Given the description of an element on the screen output the (x, y) to click on. 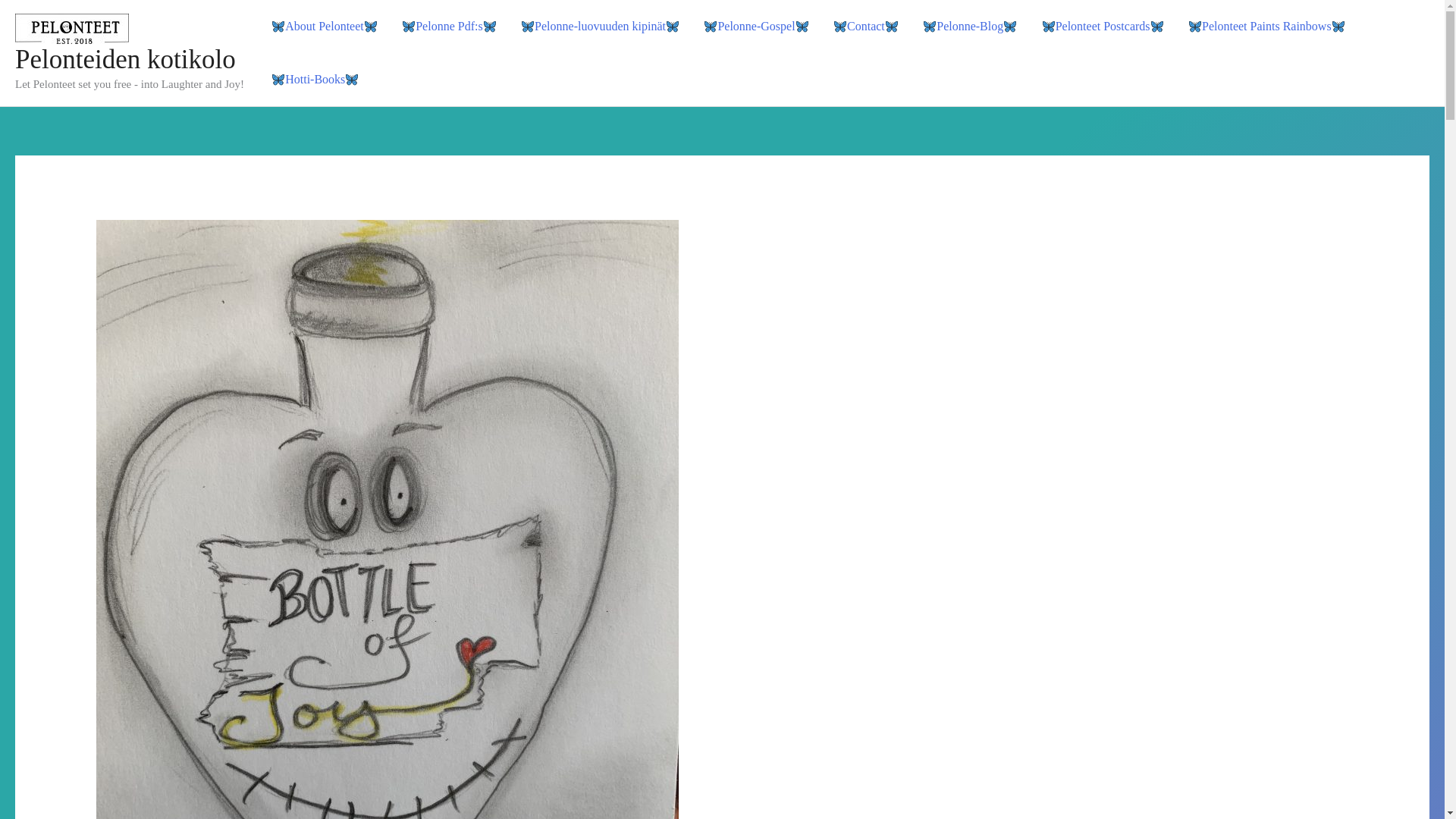
Pelonne Pdf:s (449, 26)
Pelonne-Gospel (756, 26)
Pelonteet Postcards (1101, 26)
Contact (866, 26)
Pelonteet Paints Rainbows (1266, 26)
Hotti-Books (315, 79)
Pelonne-Blog (970, 26)
Pelonteiden kotikolo (124, 59)
About Pelonteet (324, 26)
